Given the description of an element on the screen output the (x, y) to click on. 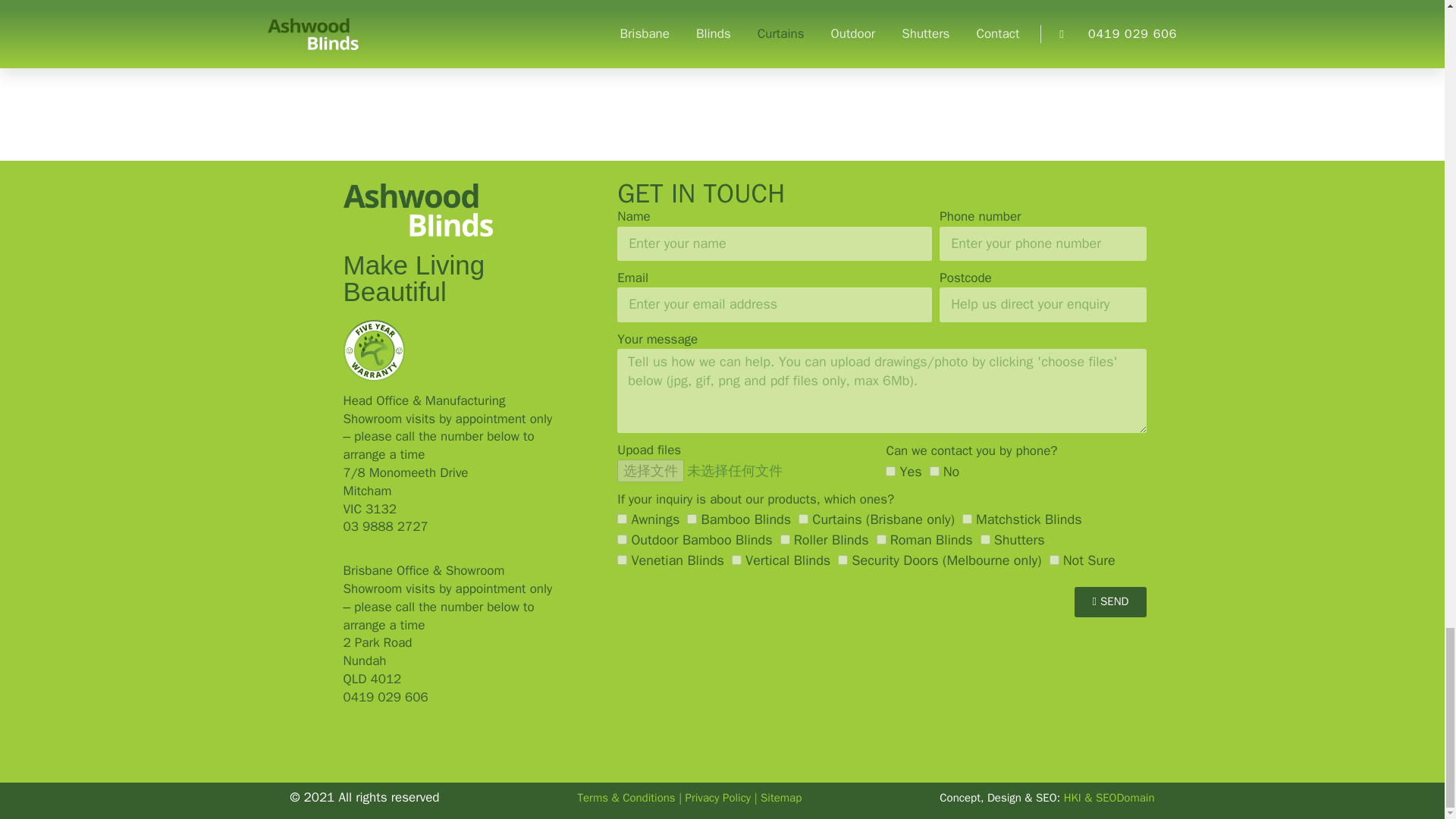
Not Sure (1054, 560)
Bamboo Blinds (692, 519)
Vertical Blinds (736, 560)
Shutters (984, 539)
No (934, 470)
Roman Blinds (881, 539)
Awnings (622, 519)
Roller Blinds (785, 539)
Venetian Blinds (622, 560)
Yes (890, 470)
Outdoor Bamboo Blinds (622, 539)
Matchstick Blinds (967, 519)
